Given the description of an element on the screen output the (x, y) to click on. 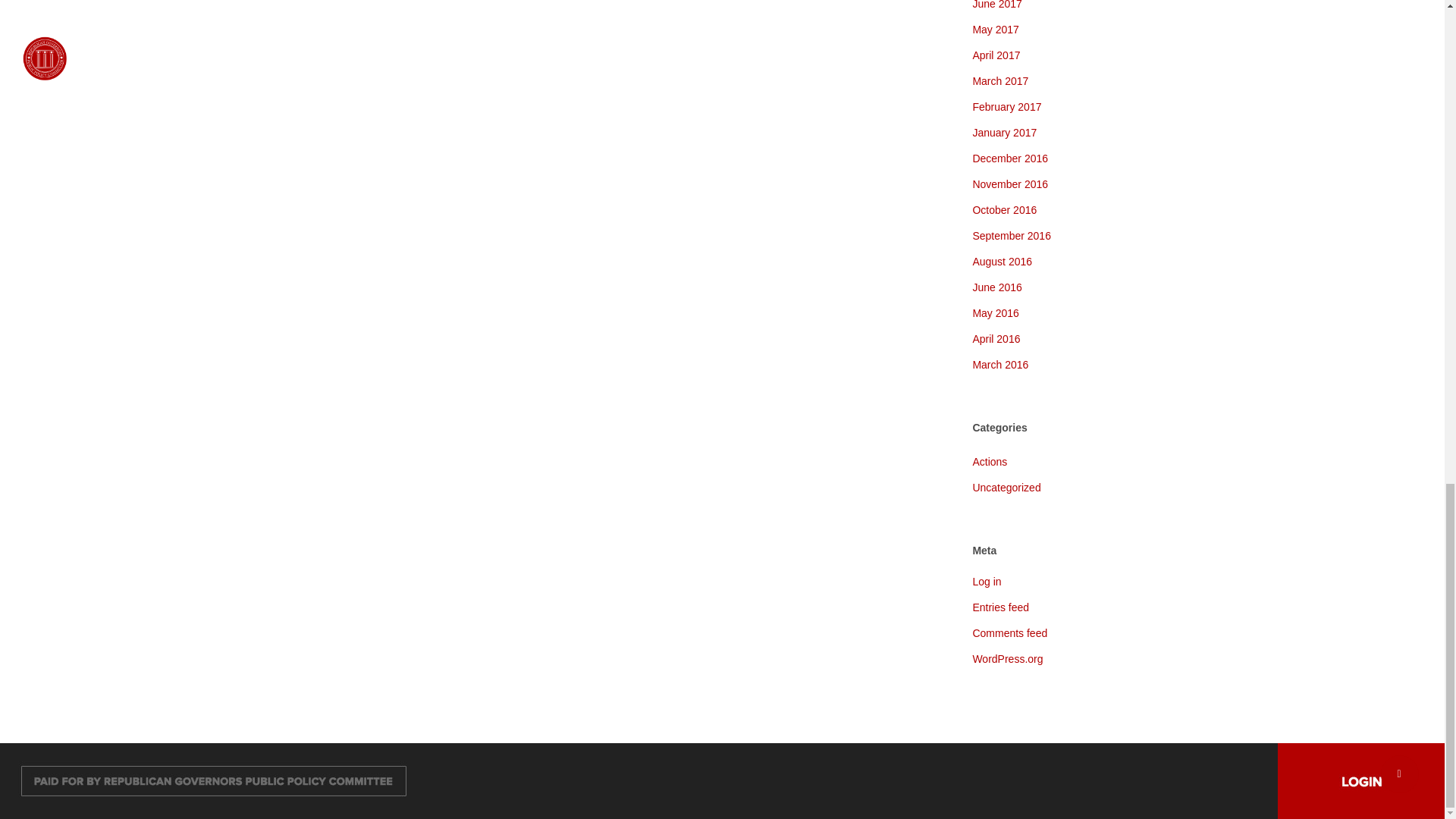
June 2017 (1082, 6)
May 2017 (1082, 29)
